Given the description of an element on the screen output the (x, y) to click on. 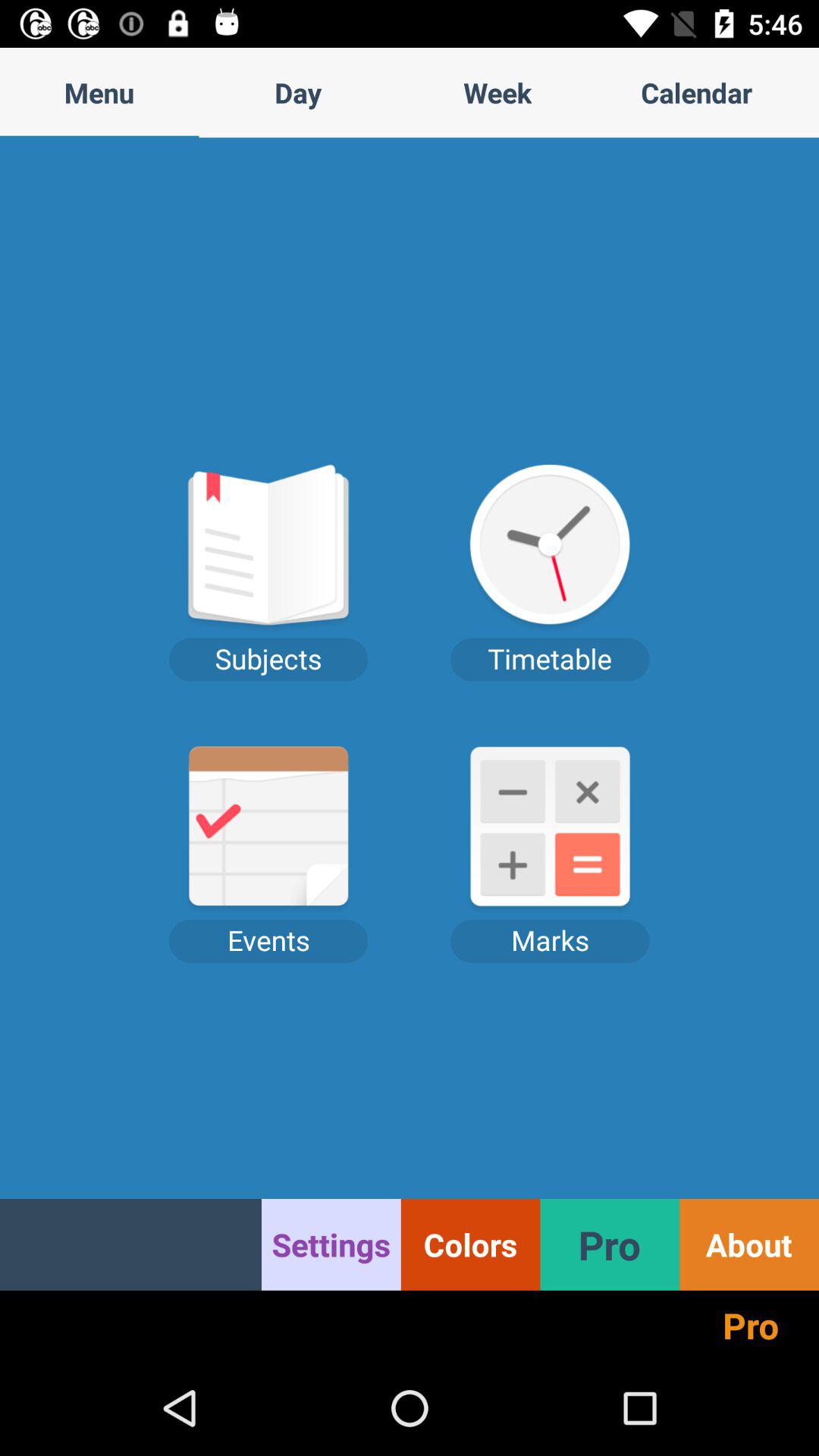
select the image above the marks (550, 830)
